Given the description of an element on the screen output the (x, y) to click on. 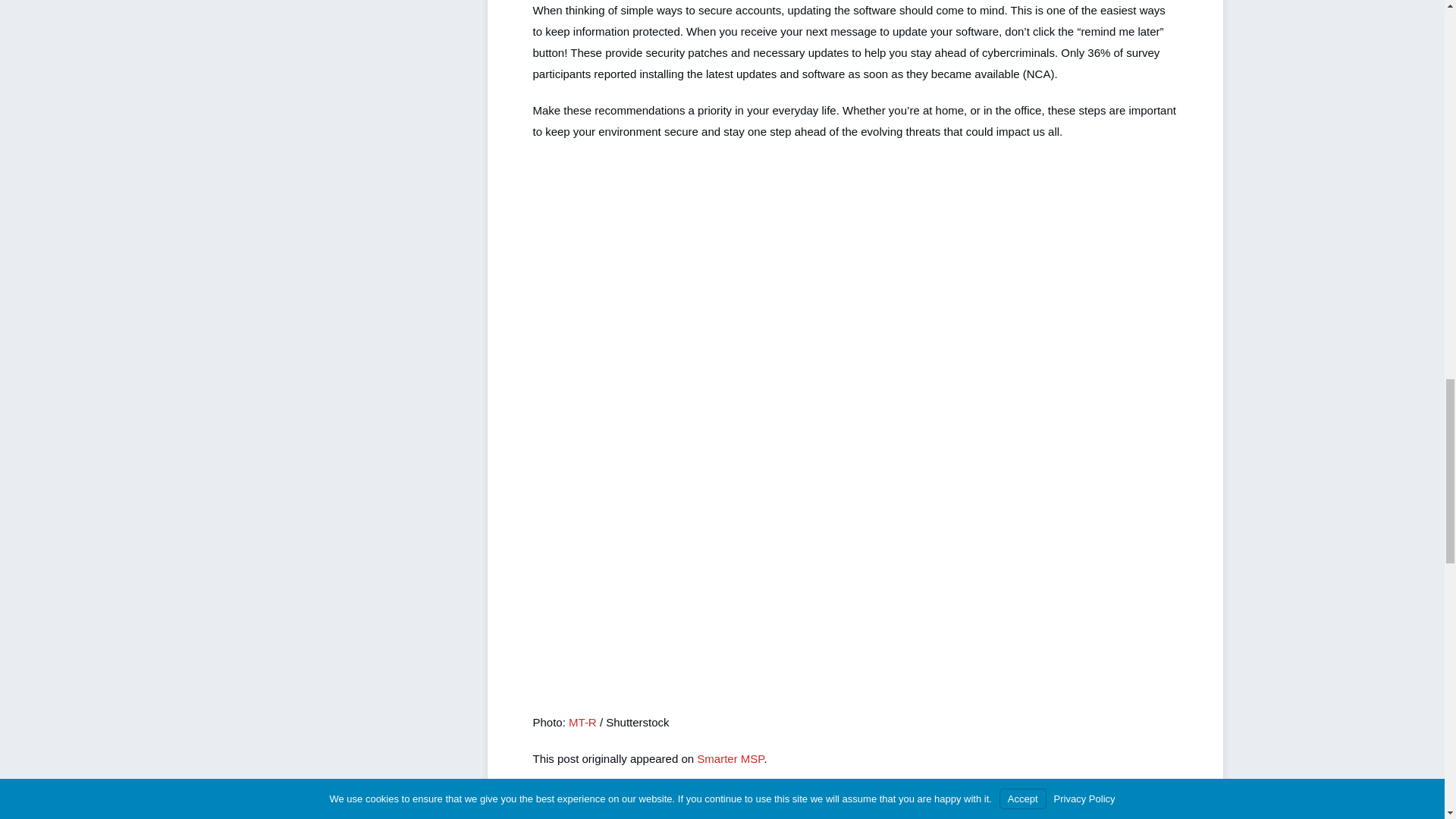
SECURITY (707, 803)
Smarter MSP (729, 758)
PHISHING (647, 803)
MT-R (582, 721)
CYBERSECURITY (574, 803)
